Given the description of an element on the screen output the (x, y) to click on. 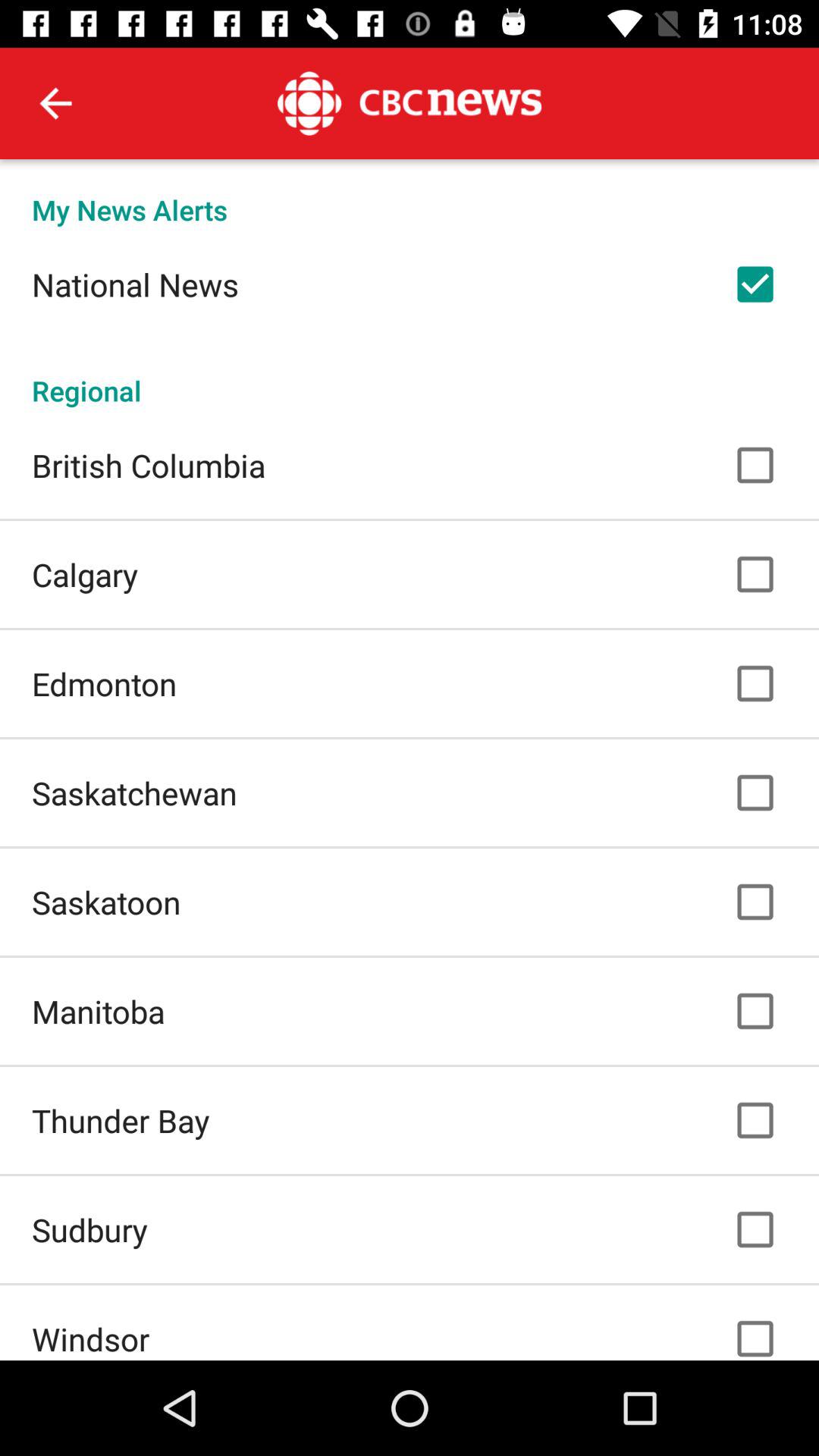
swipe until the edmonton icon (103, 683)
